Given the description of an element on the screen output the (x, y) to click on. 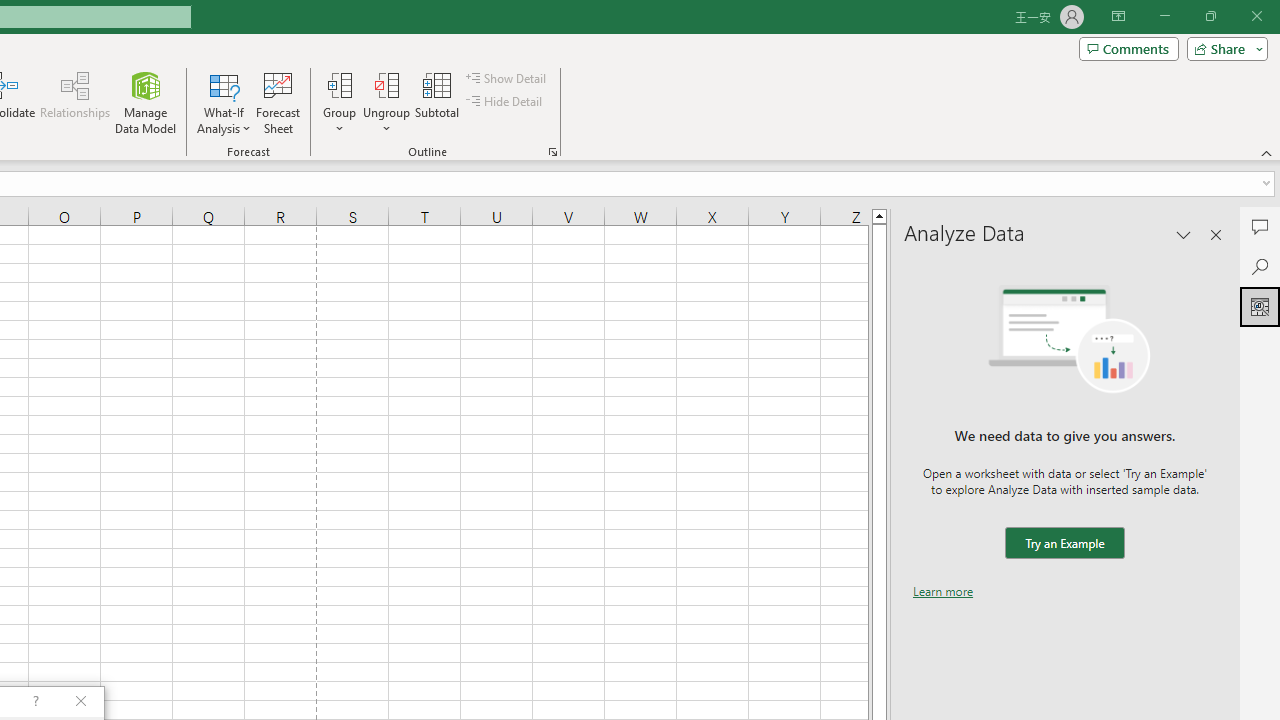
Relationships (75, 102)
